Given the description of an element on the screen output the (x, y) to click on. 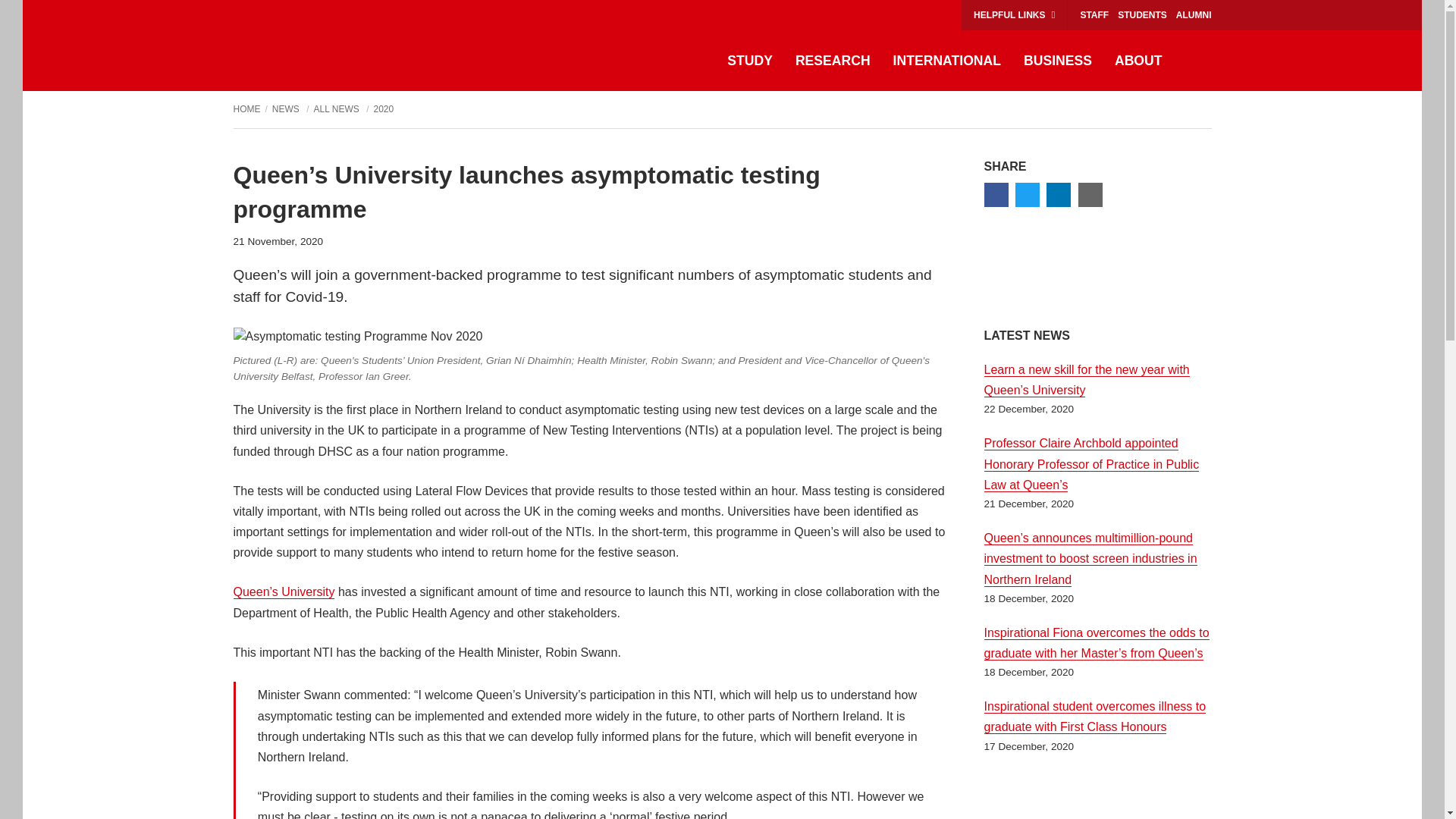
HELPFUL LINKS (1013, 15)
ALUMNI (1193, 15)
STUDENTS (1142, 15)
RESEARCH (833, 60)
STAFF (1094, 15)
SKIP TO CONTENT (40, 15)
Queen's University Belfast (306, 45)
STUDY (750, 60)
